Given the description of an element on the screen output the (x, y) to click on. 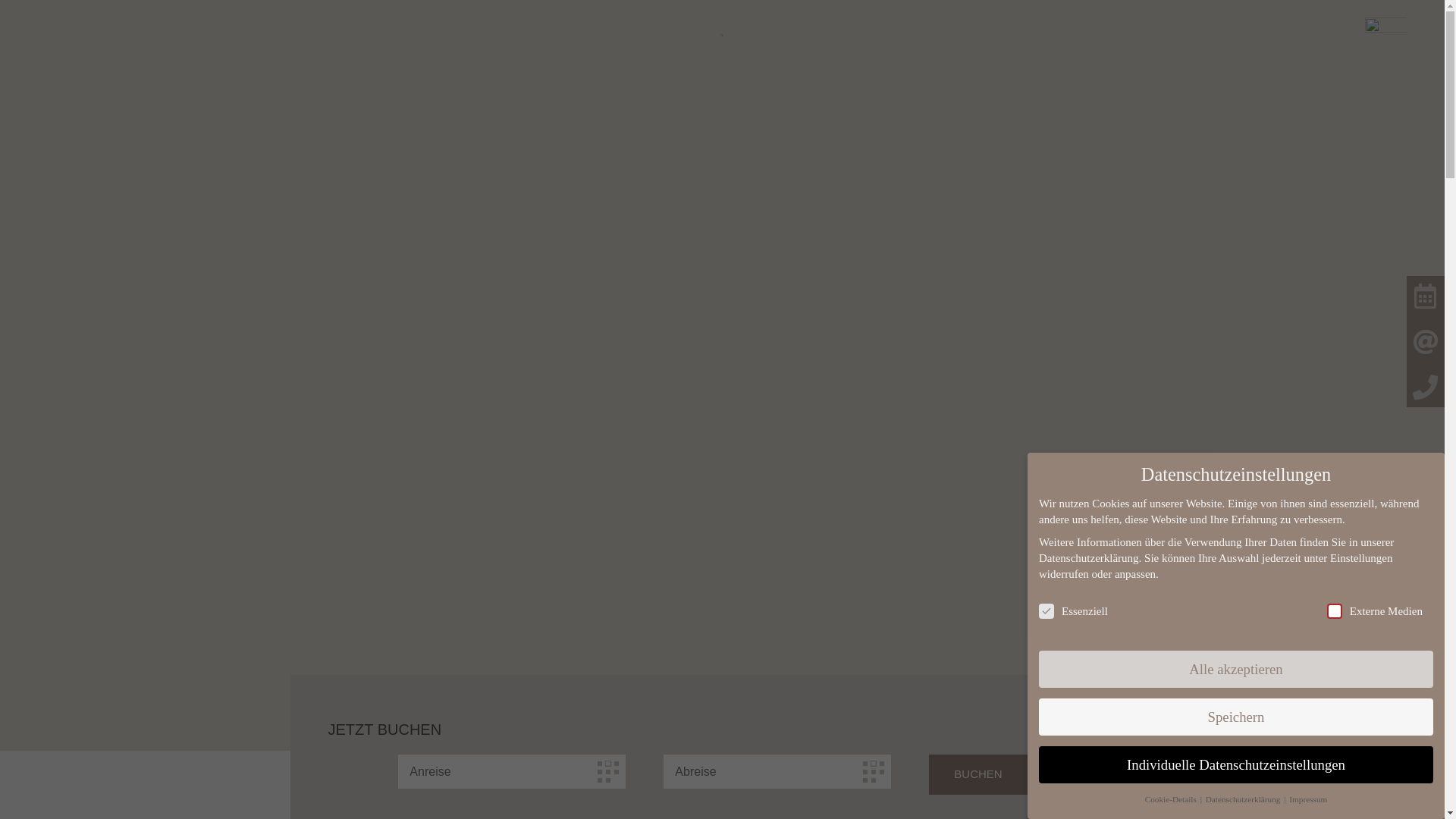
Alle akzeptieren Element type: text (1235, 668)
Impressum Element type: text (1308, 798)
Einstellungen Element type: text (1361, 558)
Cookie-Details Element type: text (1171, 798)
Speichern Element type: text (1235, 716)
Buchen Element type: text (977, 774)
Individuelle Datenschutzeinstellungen Element type: text (1235, 764)
